Given the description of an element on the screen output the (x, y) to click on. 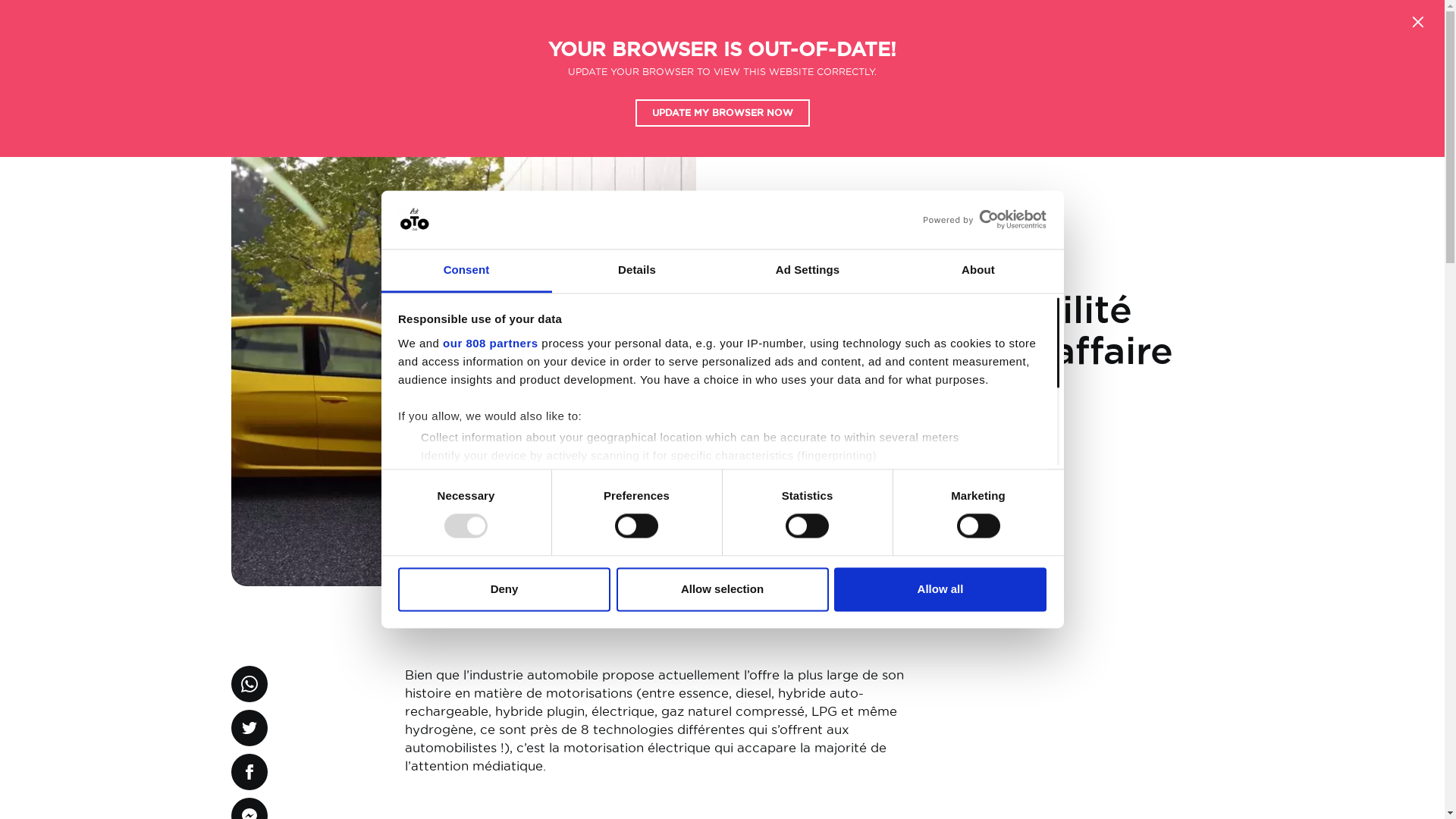
EN Element type: text (972, 649)
UPDATE MY BROWSER NOW Element type: text (722, 112)
here Element type: text (434, 585)
Enregistrer Element type: text (70, 22)
Moto Element type: text (222, 36)
Van Element type: text (265, 36)
About Element type: text (978, 270)
Allow selection Element type: text (721, 589)
FR Element type: text (1004, 649)
our 808 partners Element type: text (490, 342)
Deny Element type: text (504, 589)
Details Element type: text (637, 270)
Auto Element type: text (381, 547)
Autosalon Element type: text (1199, 36)
NL Element type: text (1036, 649)
Moto Element type: text (381, 573)
Van Element type: text (381, 599)
Aller au contenu principal Element type: text (0, 0)
Cookies Element type: text (1155, 765)
Allow all Element type: text (940, 589)
here Element type: text (646, 585)
Auto Element type: text (175, 36)
Pourquoi ce site Element type: text (835, 573)
details section Element type: text (926, 476)
Presse Element type: text (608, 547)
Contact Element type: text (835, 599)
Qui sommes-nous? Element type: text (835, 547)
Consent Element type: text (465, 270)
Outils Element type: text (1304, 36)
Submit Element type: text (1132, 398)
Ad Settings Element type: text (806, 270)
